Given the description of an element on the screen output the (x, y) to click on. 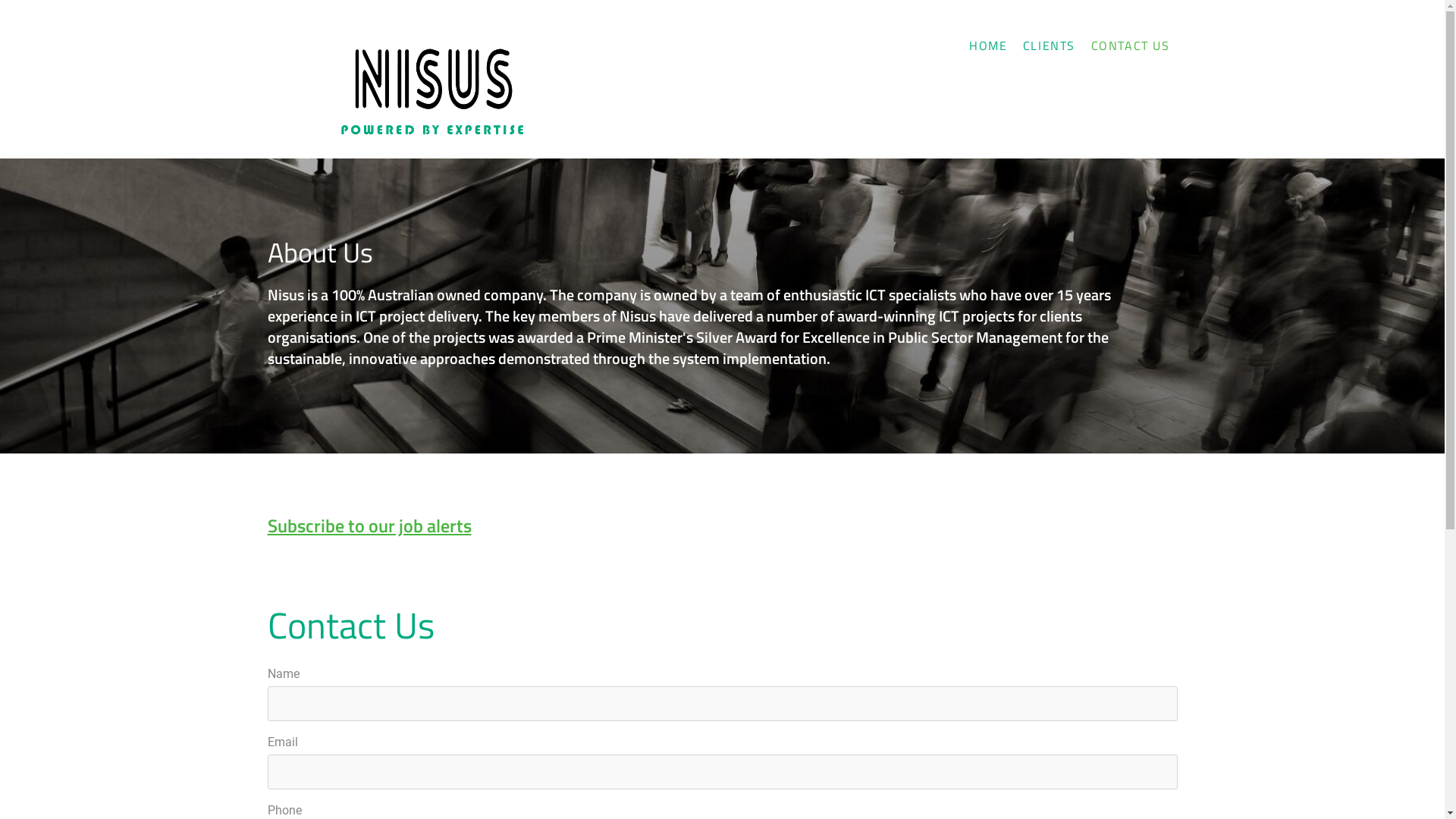
Subscribe to our job alerts Element type: text (368, 525)
HOME Element type: text (988, 45)
CONTACT US Element type: text (1129, 45)
CLIENTS Element type: text (1048, 45)
